Given the description of an element on the screen output the (x, y) to click on. 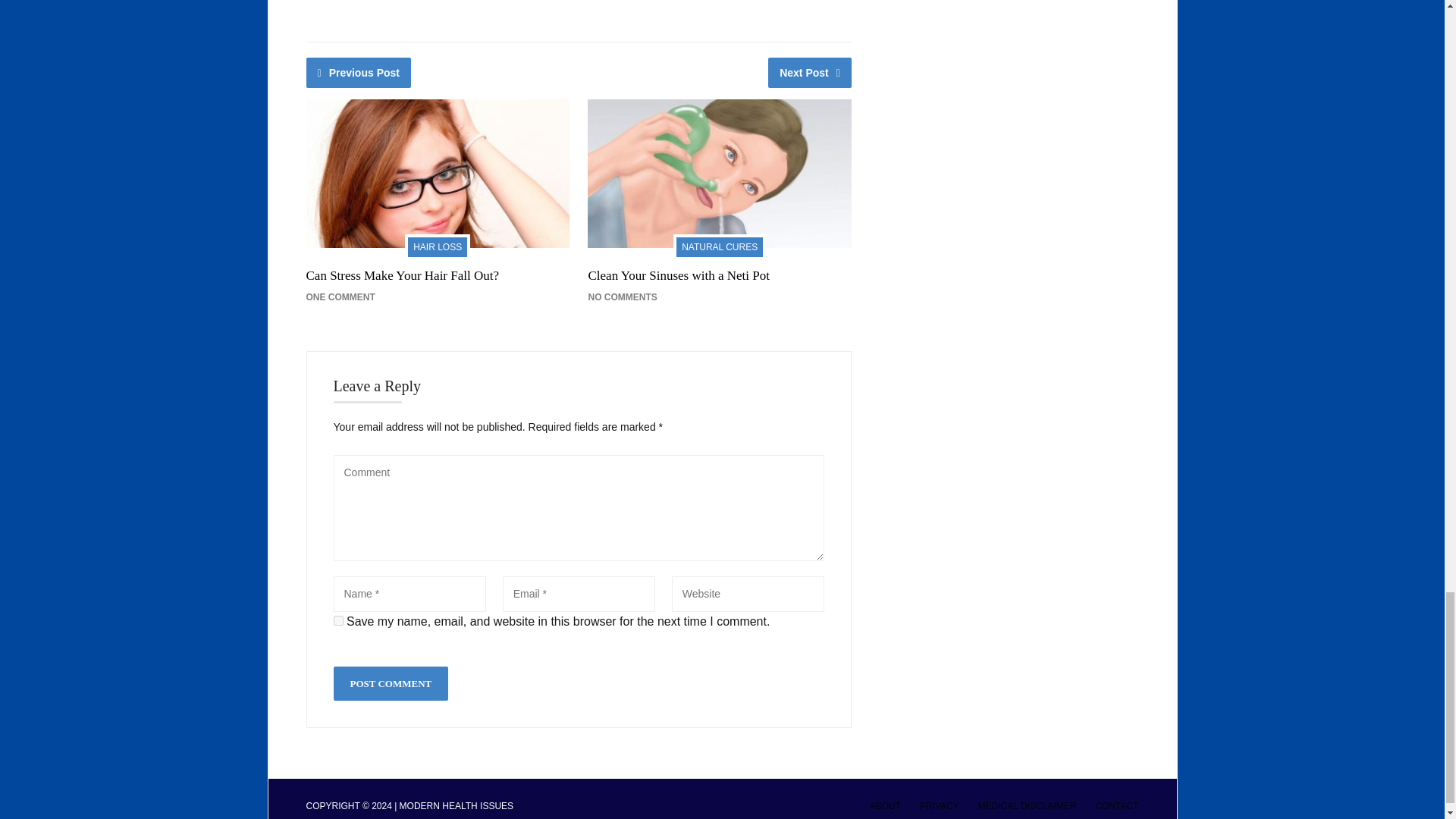
yes (338, 620)
Post Comment (390, 683)
